Given the description of an element on the screen output the (x, y) to click on. 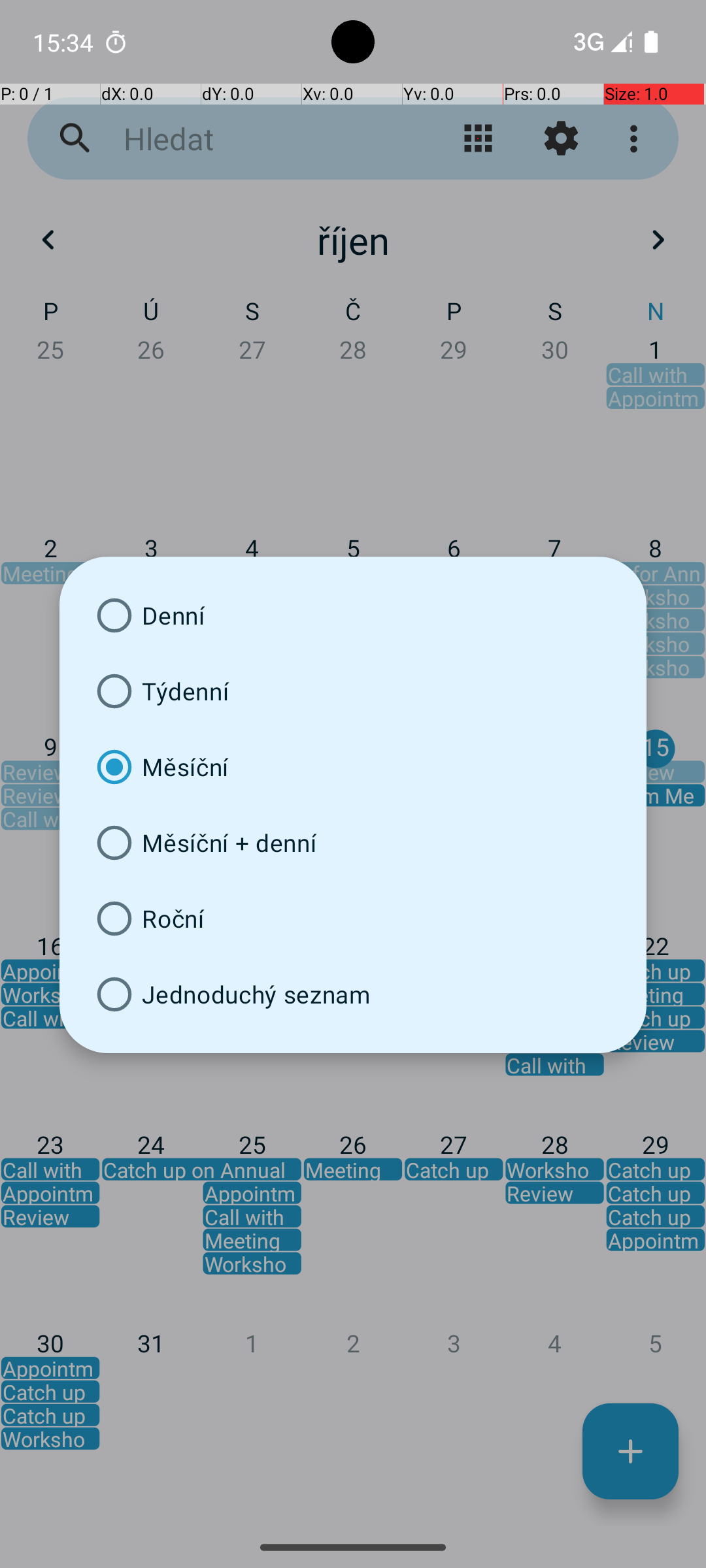
Denní Element type: android.widget.RadioButton (352, 615)
Týdenní Element type: android.widget.RadioButton (352, 691)
Měsíční Element type: android.widget.RadioButton (352, 766)
Měsíční + denní Element type: android.widget.RadioButton (352, 842)
Roční Element type: android.widget.RadioButton (352, 918)
Jednoduchý seznam Element type: android.widget.RadioButton (352, 994)
